Given the description of an element on the screen output the (x, y) to click on. 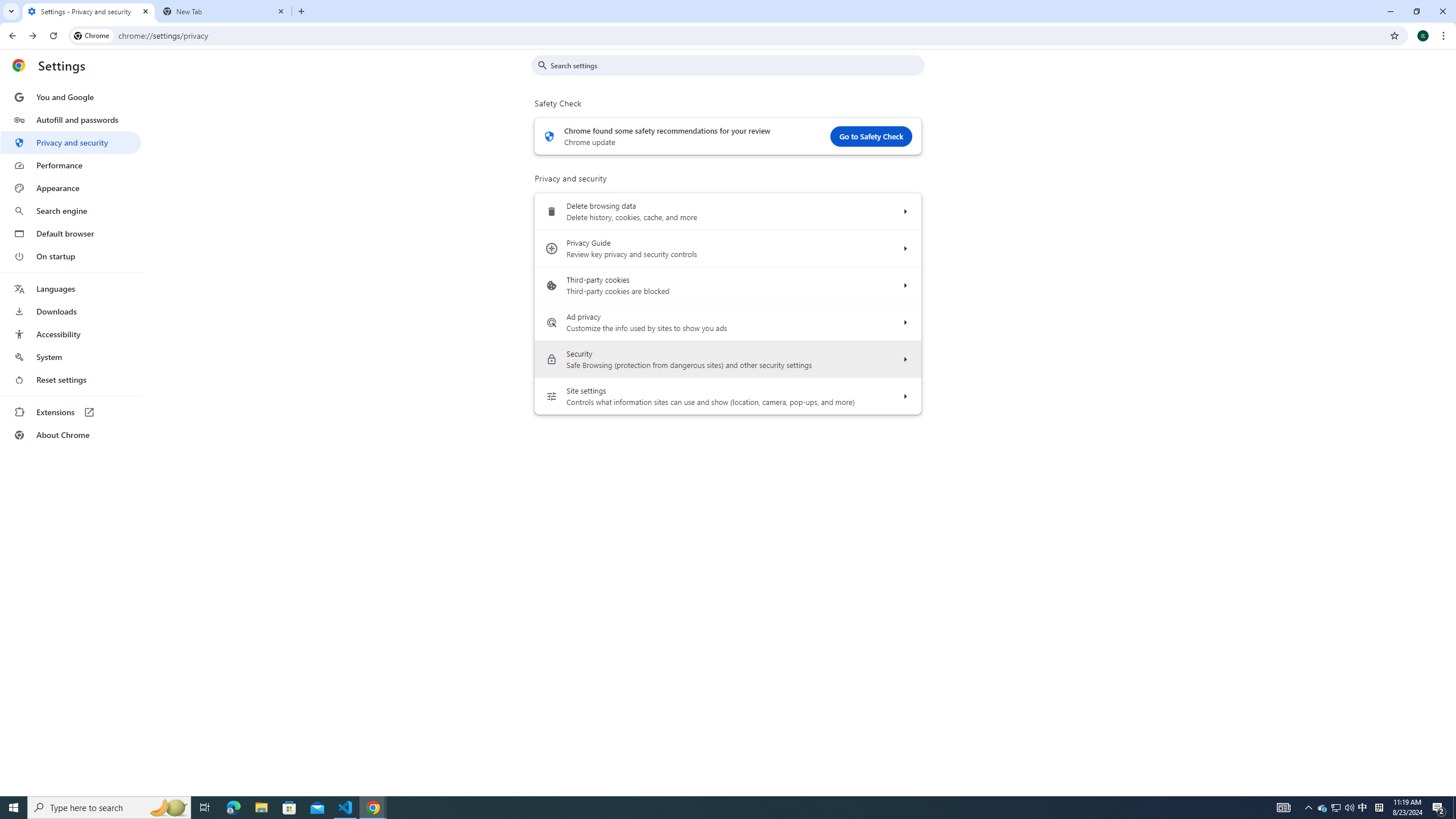
You and Google (70, 96)
Extensions (70, 412)
Search settings (735, 65)
Downloads (70, 311)
